Given the description of an element on the screen output the (x, y) to click on. 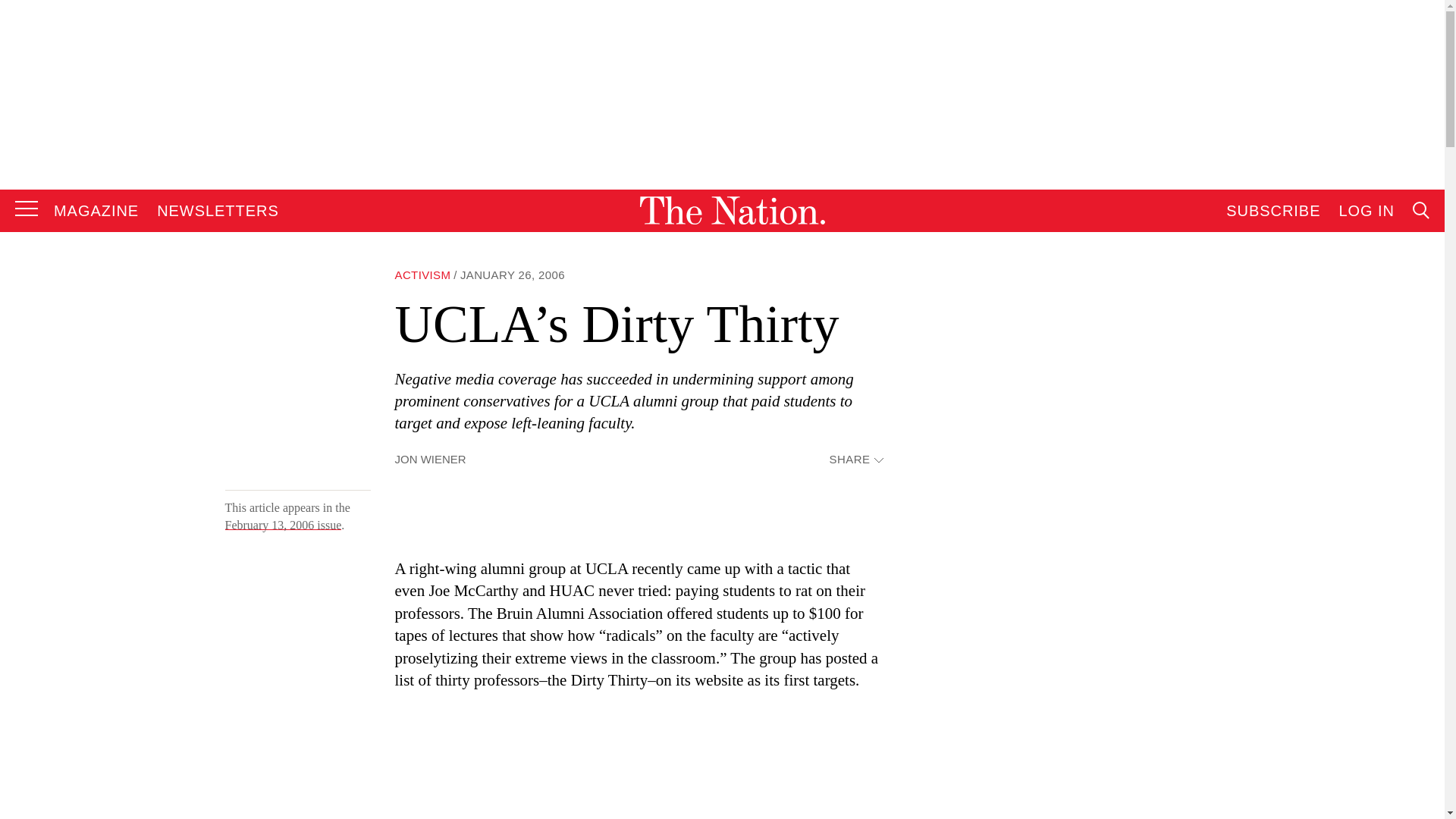
ACTIVISM (421, 274)
LOG IN (1366, 210)
Search (1278, 364)
SUBSCRIBE (1272, 210)
MAGAZINE (95, 210)
NEWSLETTERS (218, 210)
February 13, 2006 issue (282, 524)
JON WIENER (429, 459)
SHARE (855, 459)
